Given the description of an element on the screen output the (x, y) to click on. 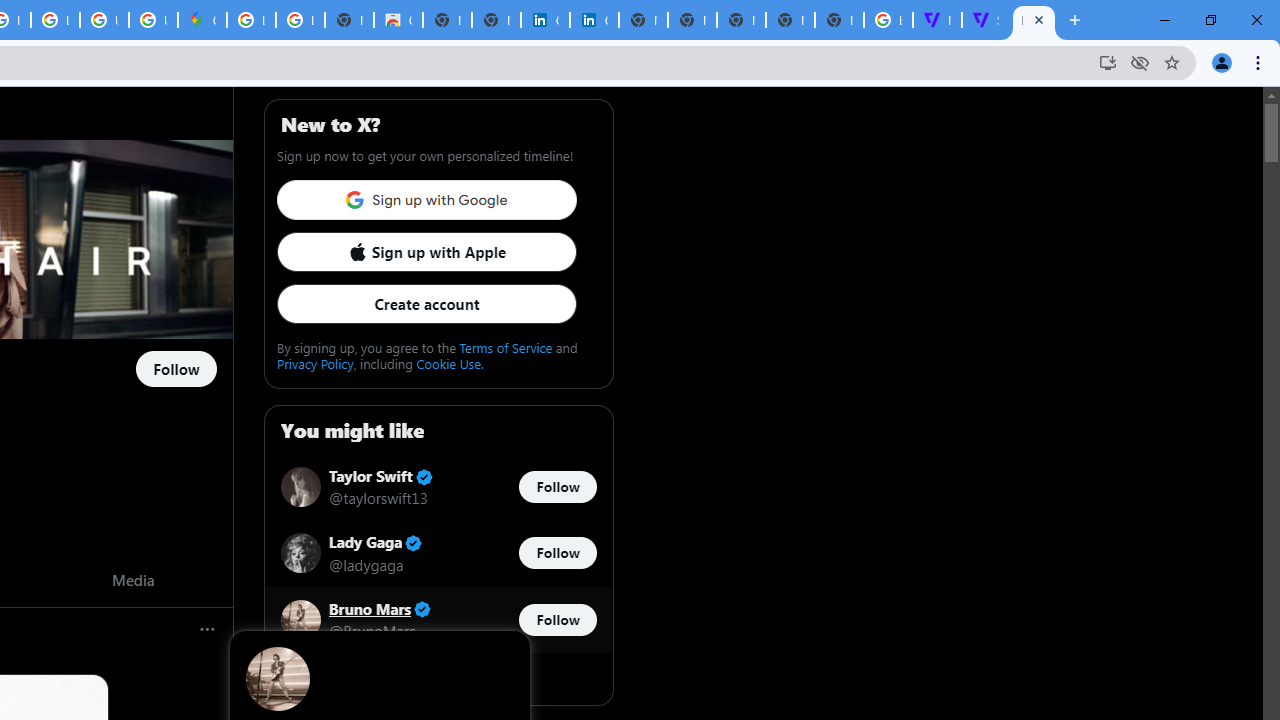
Create account (426, 303)
